Given the description of an element on the screen output the (x, y) to click on. 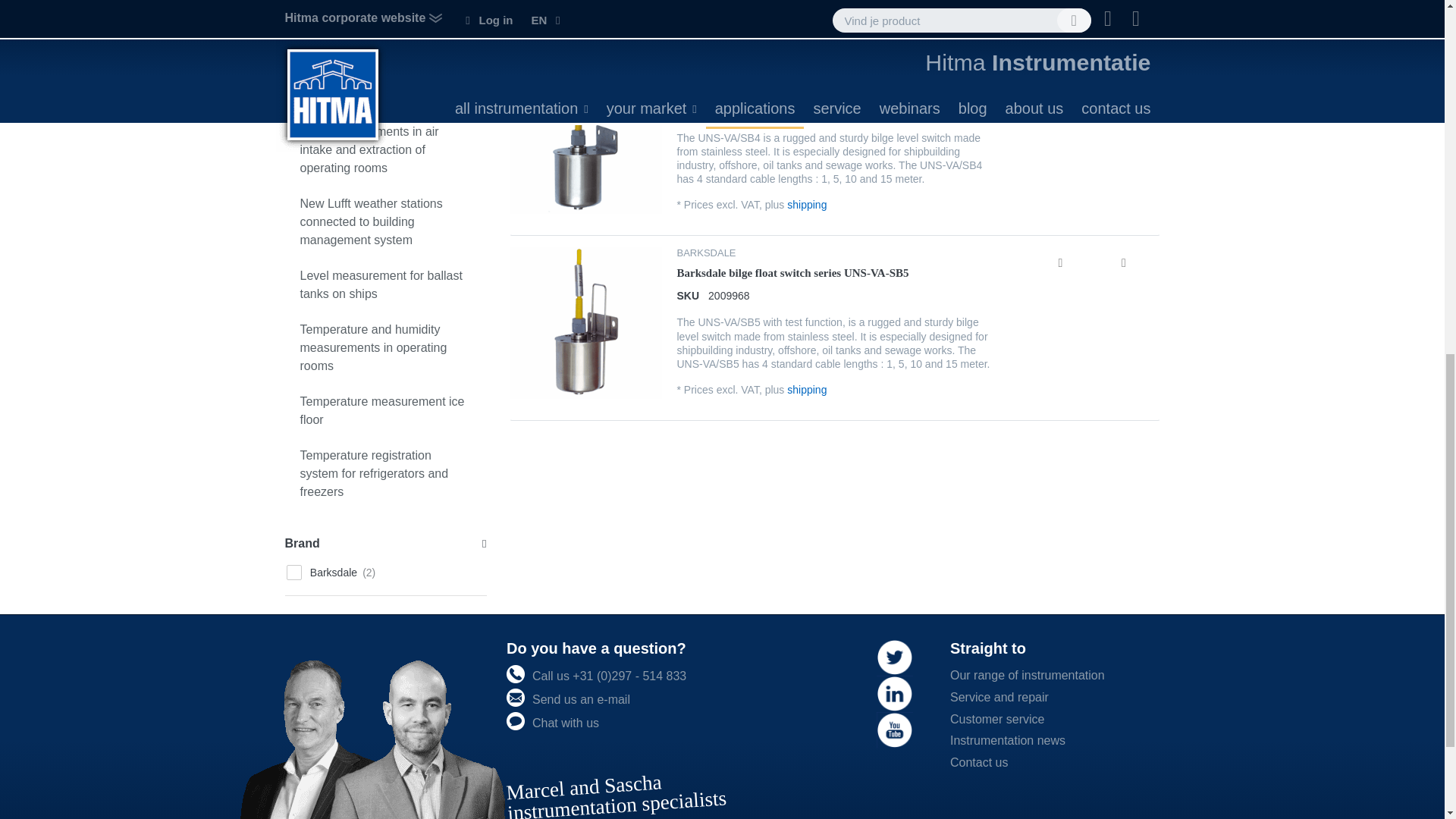
Sort by Featured (568, 13)
Barksdale (385, 572)
Description (1123, 77)
Compare (1059, 77)
Compare (1059, 262)
24 per Page (1113, 13)
Barksdale bilge float switch series UNS-VA-SB5 (792, 272)
Barksdale bilge float switch series UNS-VA-SB4 (792, 87)
